Given the description of an element on the screen output the (x, y) to click on. 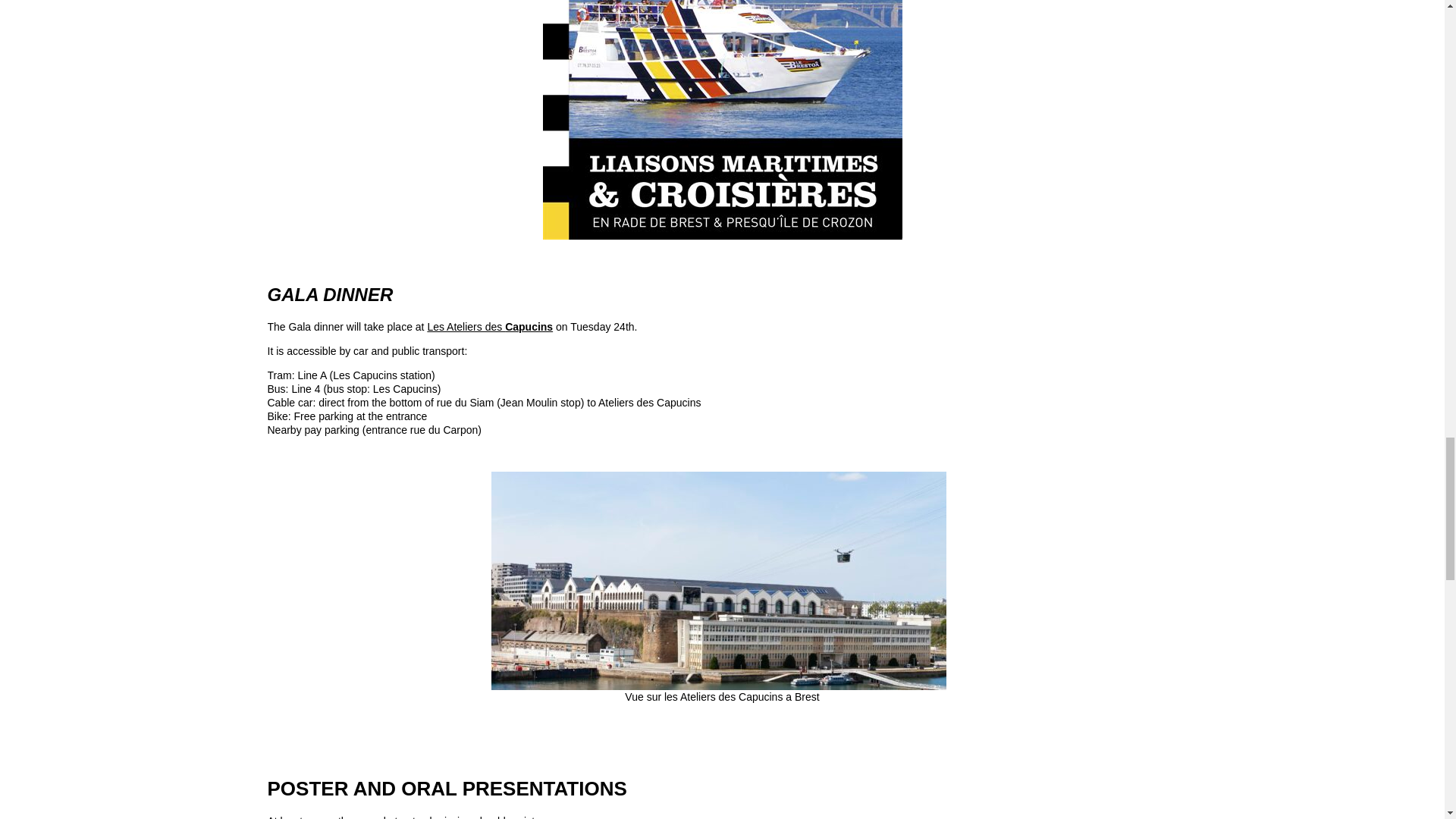
Les Ateliers des Capucins (489, 326)
